Given the description of an element on the screen output the (x, y) to click on. 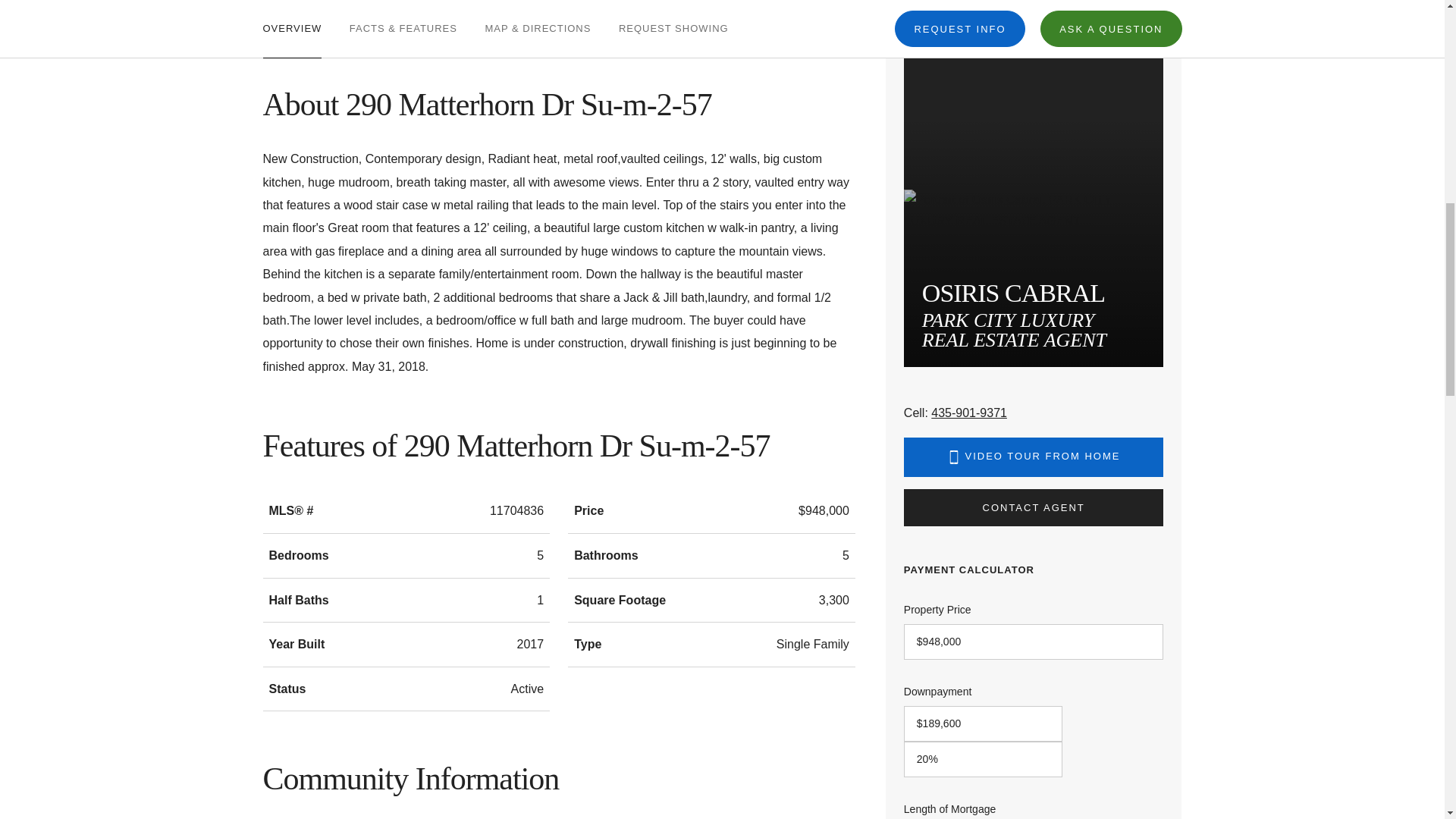
OVERVIEW (291, 18)
MOBILE ICON (953, 457)
REQUEST INFO (960, 12)
REQUEST SHOWING (673, 18)
